Given the description of an element on the screen output the (x, y) to click on. 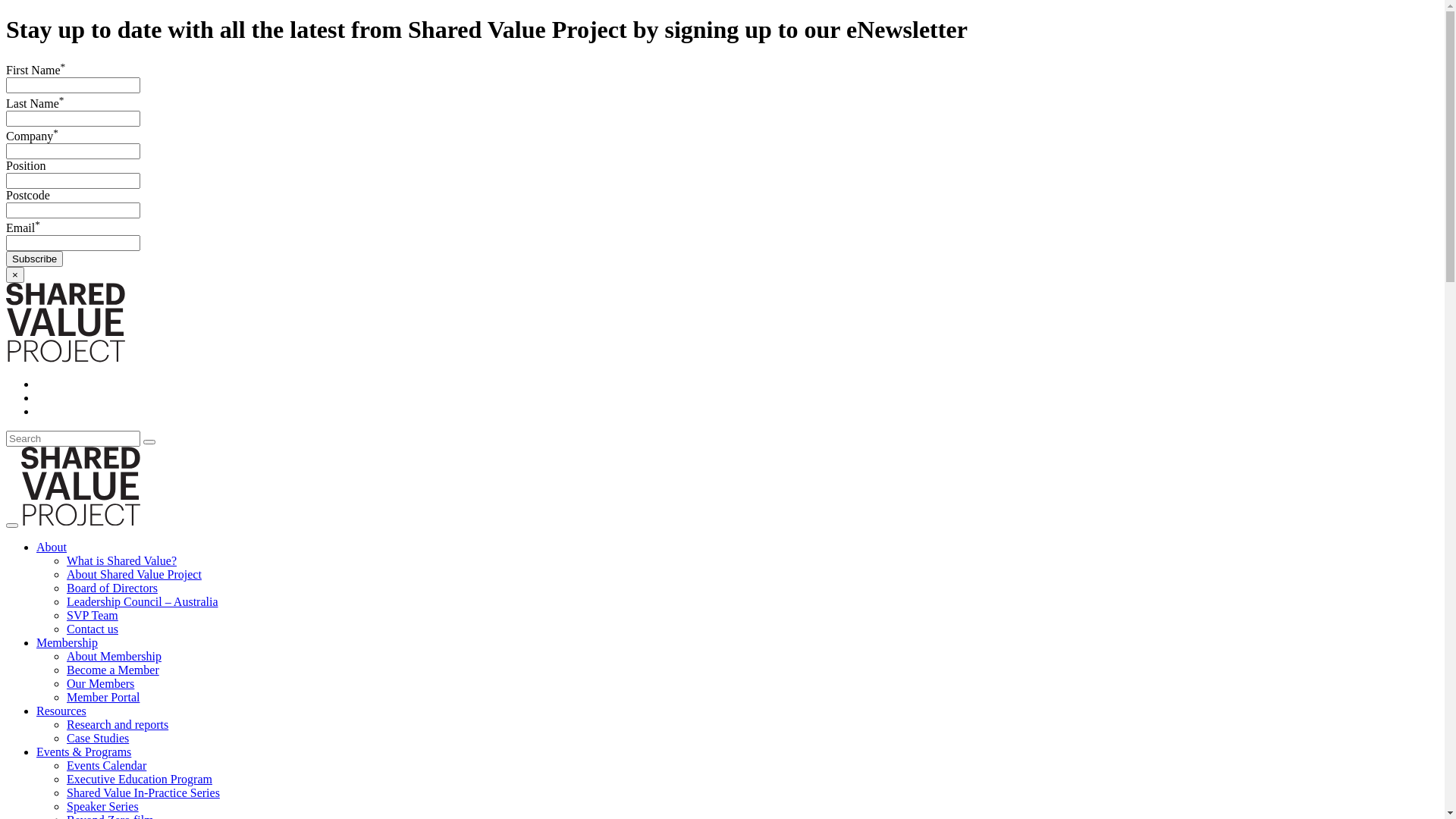
Contact us Element type: text (92, 628)
Return to Shared Value Project homepage Element type: hover (80, 520)
Our Members Element type: text (100, 683)
Events Calendar Element type: text (106, 765)
Membership Element type: text (66, 642)
Events & Programs Element type: text (83, 751)
Become a Member Element type: text (112, 669)
Research and reports Element type: text (117, 724)
SVP Team Element type: text (92, 614)
About Shared Value Project Element type: text (133, 573)
Case Studies Element type: text (97, 737)
Member Portal Element type: text (102, 696)
Speaker Series Element type: text (102, 806)
Shared Value In-Practice Series Element type: text (142, 792)
Executive Education Program Element type: text (139, 778)
About Membership Element type: text (113, 655)
What is Shared Value? Element type: text (121, 560)
Subscribe Element type: text (34, 258)
About Element type: text (51, 546)
Return to Shared Value Project homepage Element type: hover (65, 357)
Resources Element type: text (61, 710)
Board of Directors Element type: text (111, 587)
